Given the description of an element on the screen output the (x, y) to click on. 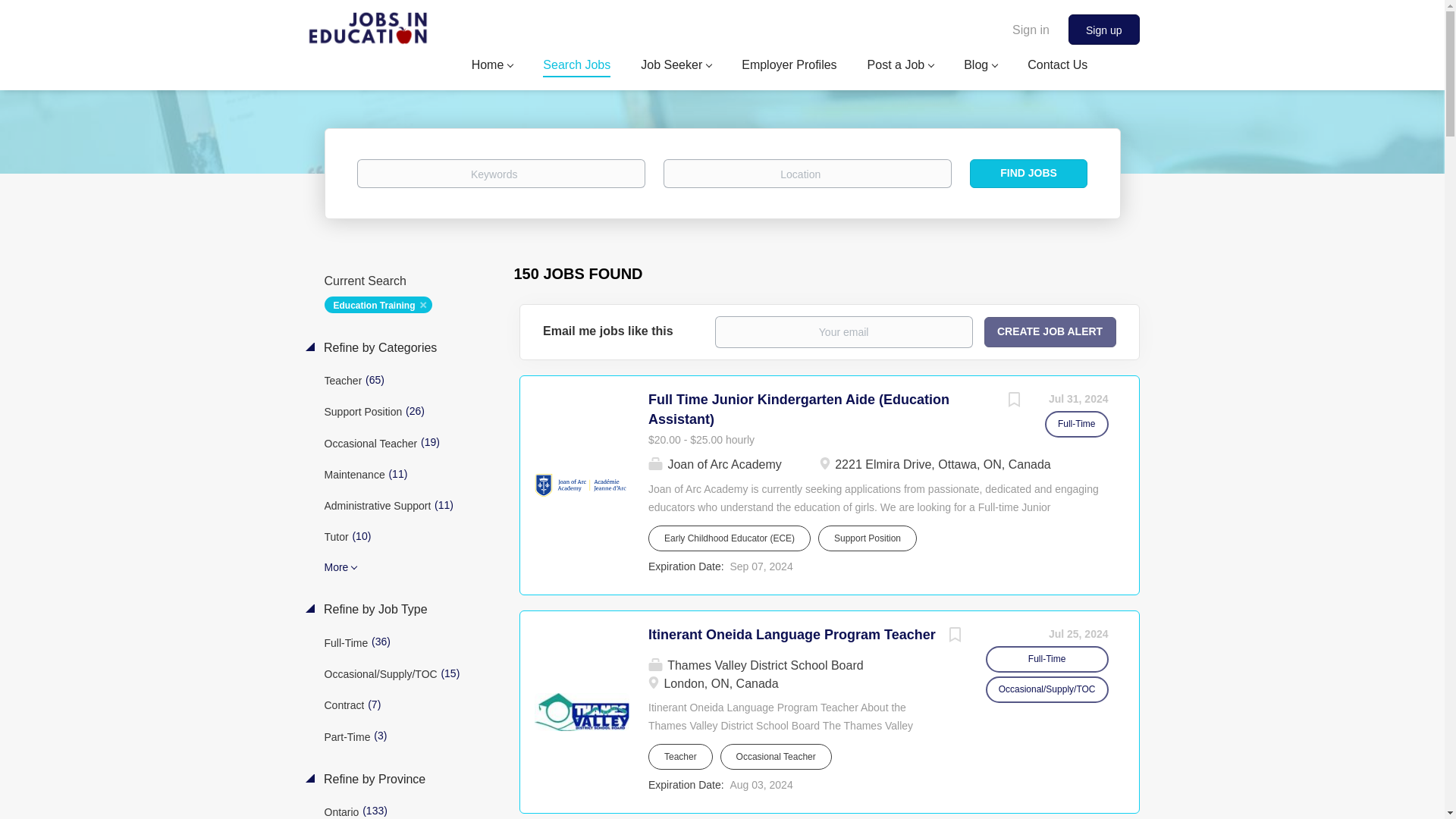
Search Jobs (576, 66)
Create job alert (1050, 331)
Home (492, 66)
Sign in (1031, 28)
Job Seeker (675, 66)
Sign up (1103, 29)
